Given the description of an element on the screen output the (x, y) to click on. 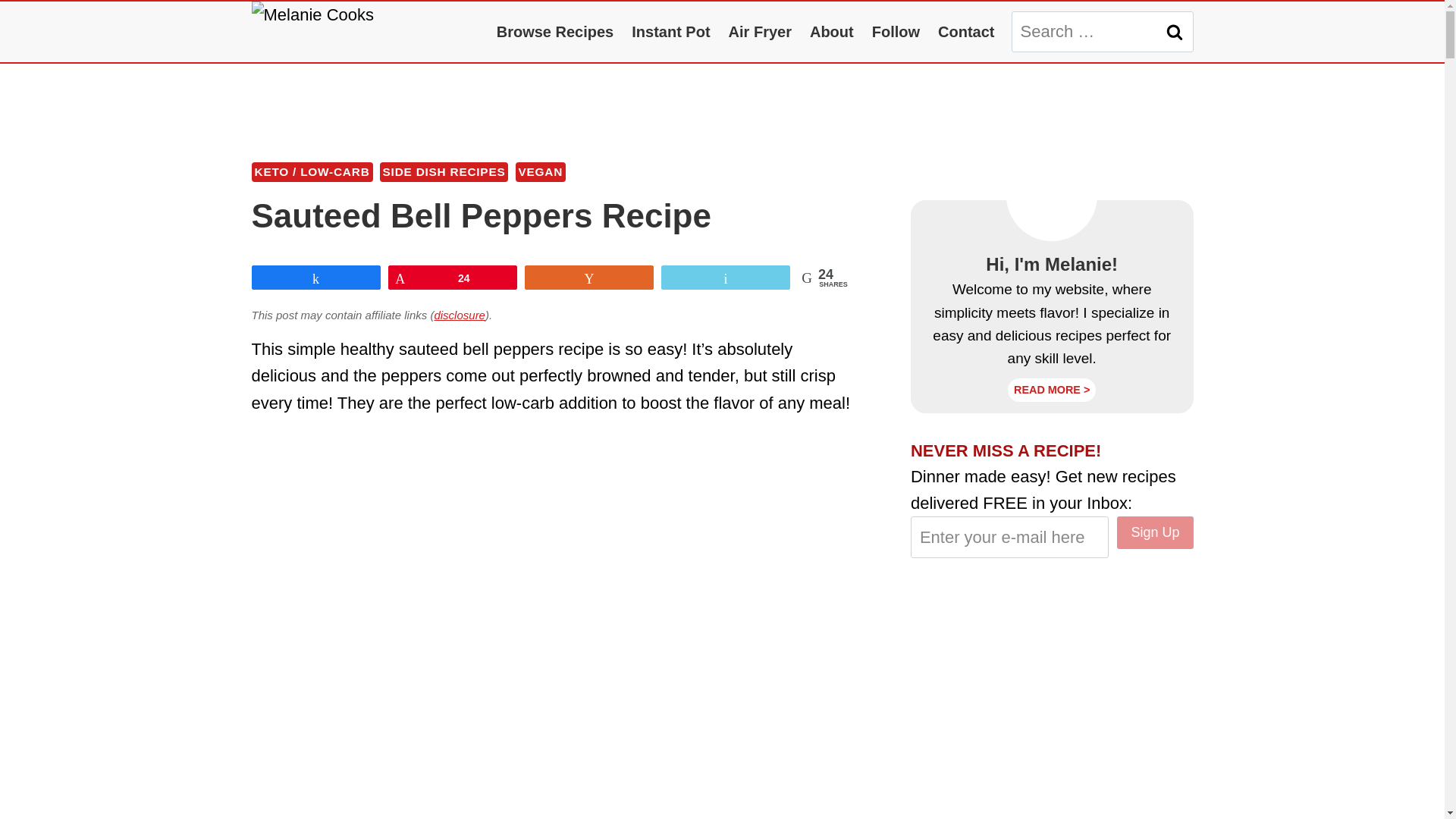
Enter your e-mail here (1010, 536)
disclosure (458, 314)
Sign Up (1154, 532)
Search (1174, 32)
About (831, 31)
SIDE DISH RECIPES (444, 171)
Search (1174, 32)
VEGAN (540, 171)
Air Fryer (759, 31)
24 (452, 277)
